Given the description of an element on the screen output the (x, y) to click on. 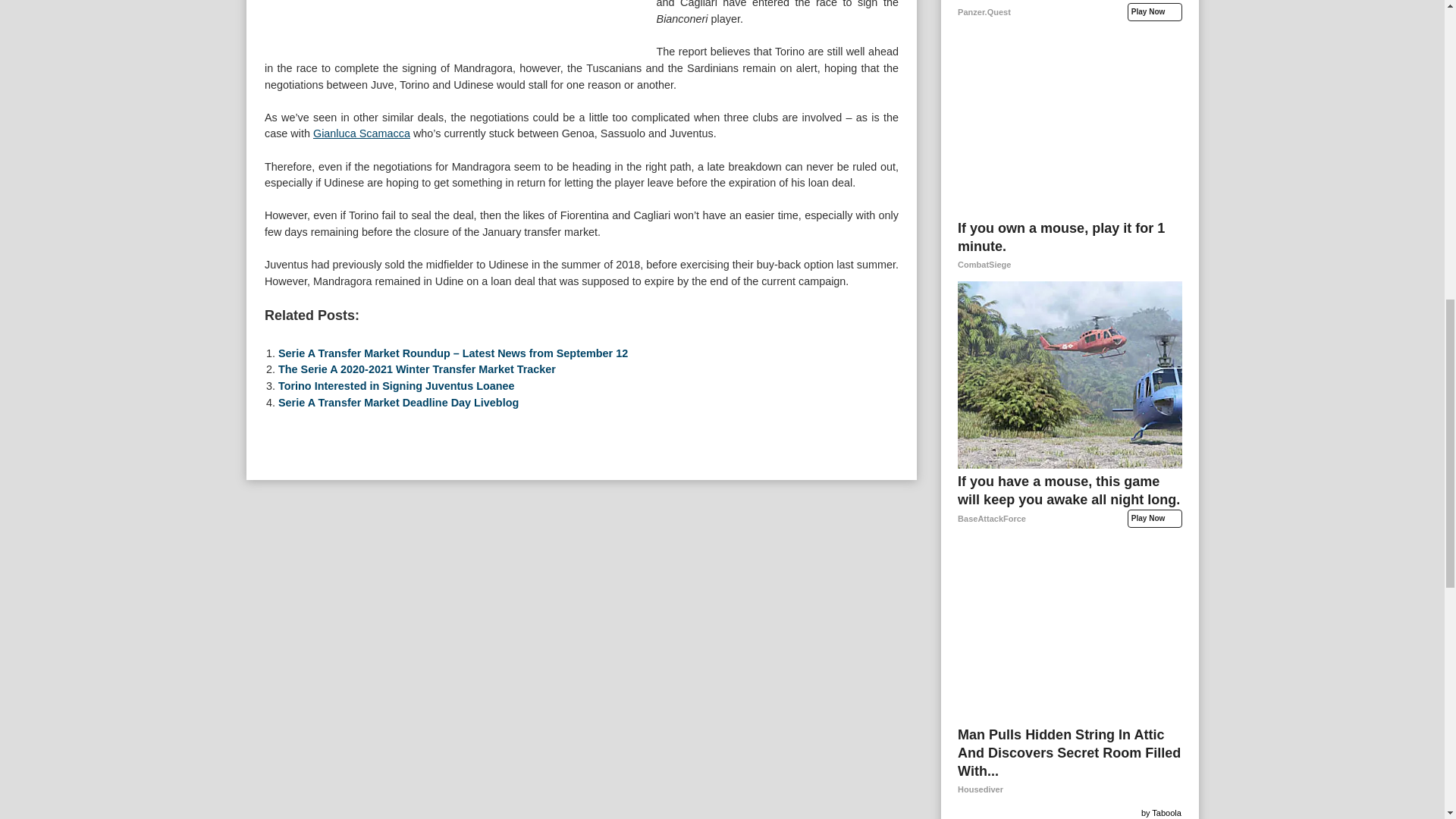
Serie A Transfer Market Deadline Day Liveblog (398, 643)
The Serie A 2020-2021 Winter Transfer Market Tracker (417, 609)
Torino Interested in Signing Juventus Loanee (396, 625)
